Given the description of an element on the screen output the (x, y) to click on. 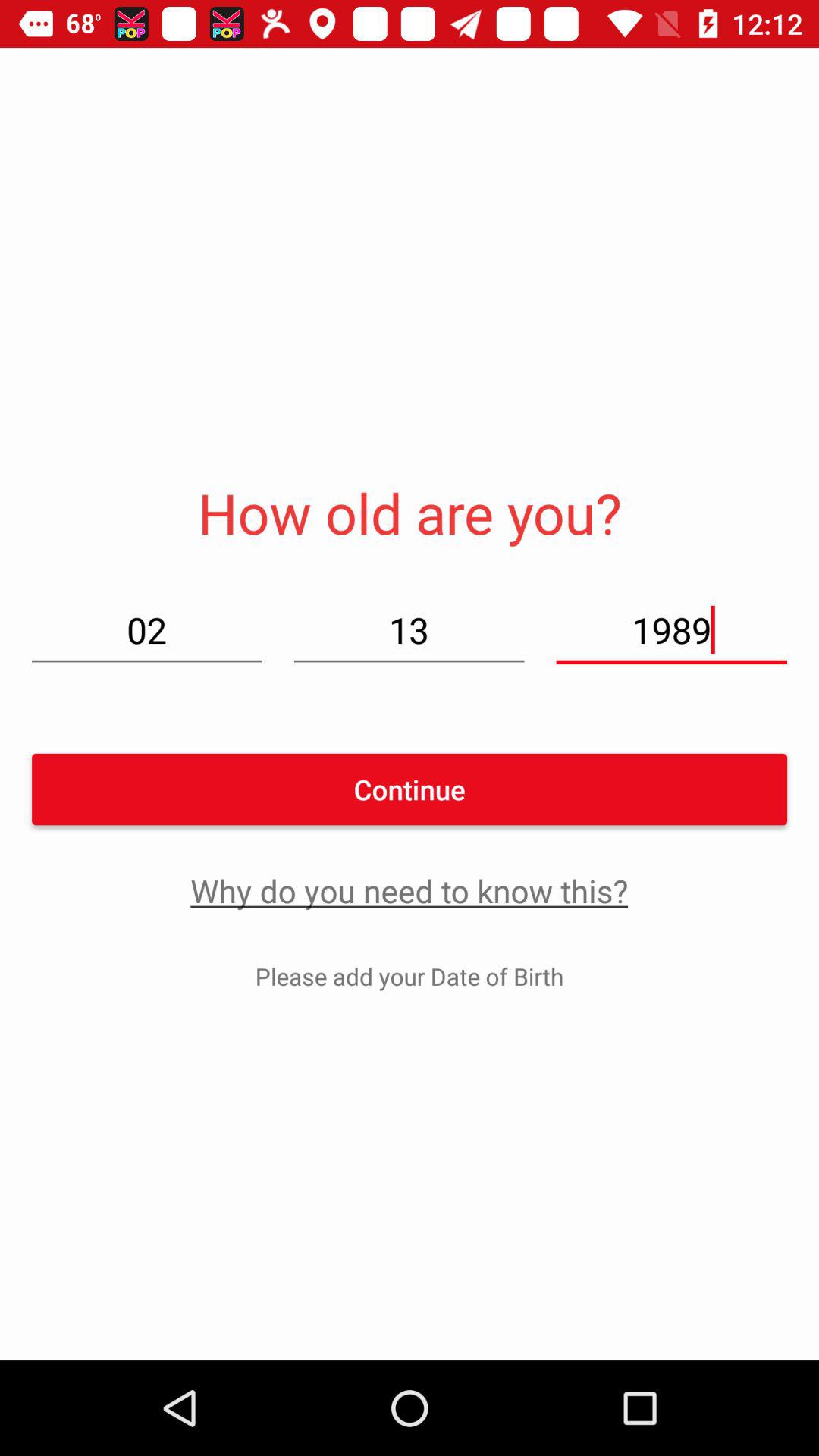
tap the item above continue item (146, 629)
